Given the description of an element on the screen output the (x, y) to click on. 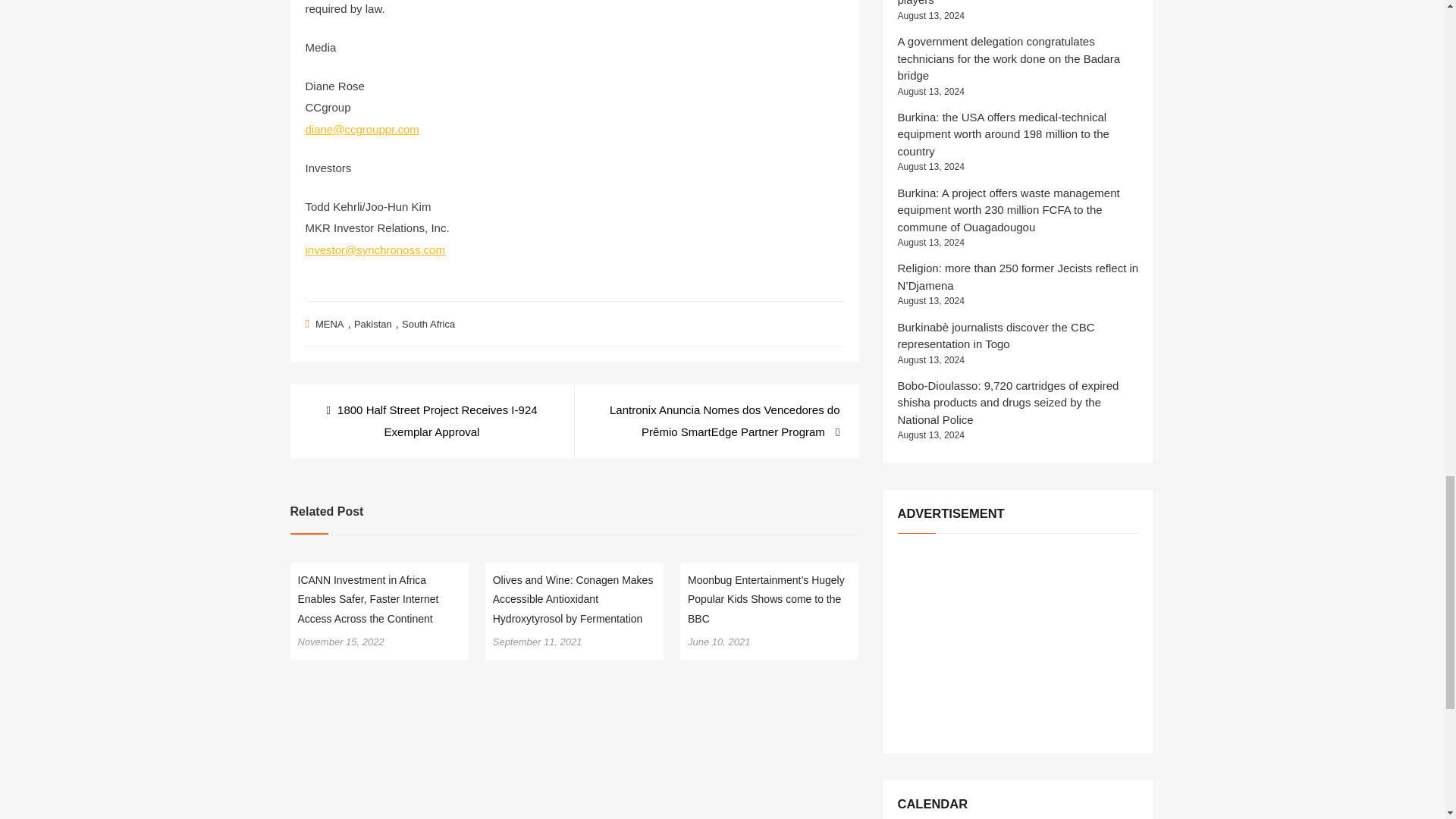
1800 Half Street Project Receives I-924 Exemplar Approval (431, 421)
MENA (329, 324)
Pakistan (372, 324)
South Africa (427, 324)
